Given the description of an element on the screen output the (x, y) to click on. 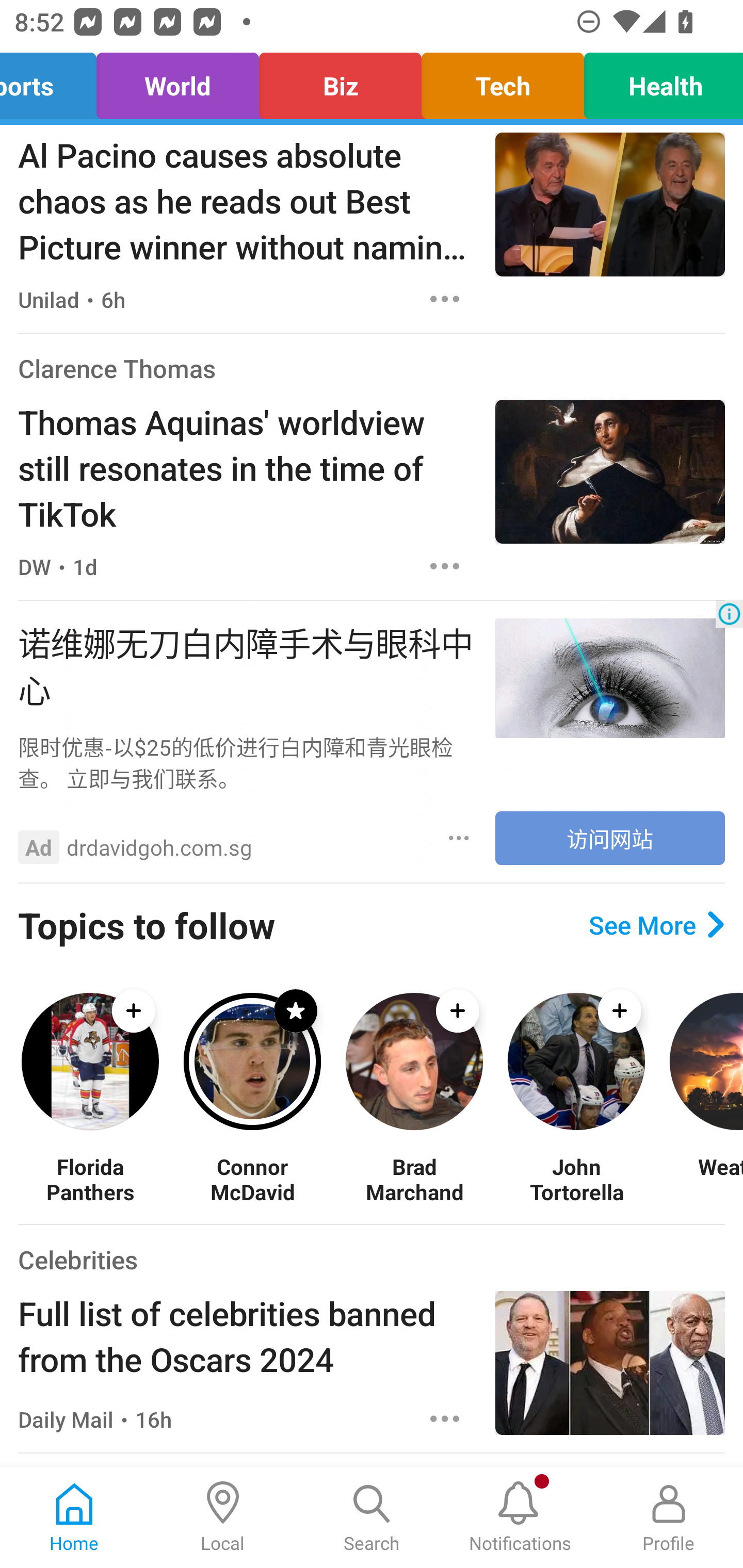
World (177, 81)
Biz (340, 81)
Tech (502, 81)
Health (658, 81)
Options (444, 299)
Clarence Thomas (116, 368)
Options (444, 566)
Ad Choices Icon (729, 613)
诺维娜无刀白内障手术与眼科中心 (247, 664)
限时优惠-以$25的低价进行白内障和青光眼检查。 立即与我们联系。 (247, 761)
访问网站 (610, 837)
Options (459, 838)
drdavidgoh.com.sg (159, 847)
See More (656, 924)
Florida Panthers (89, 1178)
Connor McDavid (251, 1178)
Brad Marchand (413, 1178)
John Tortorella (575, 1178)
Celebrities (77, 1258)
Options (444, 1418)
Local (222, 1517)
Search (371, 1517)
Notifications, New notification Notifications (519, 1517)
Profile (668, 1517)
